Given the description of an element on the screen output the (x, y) to click on. 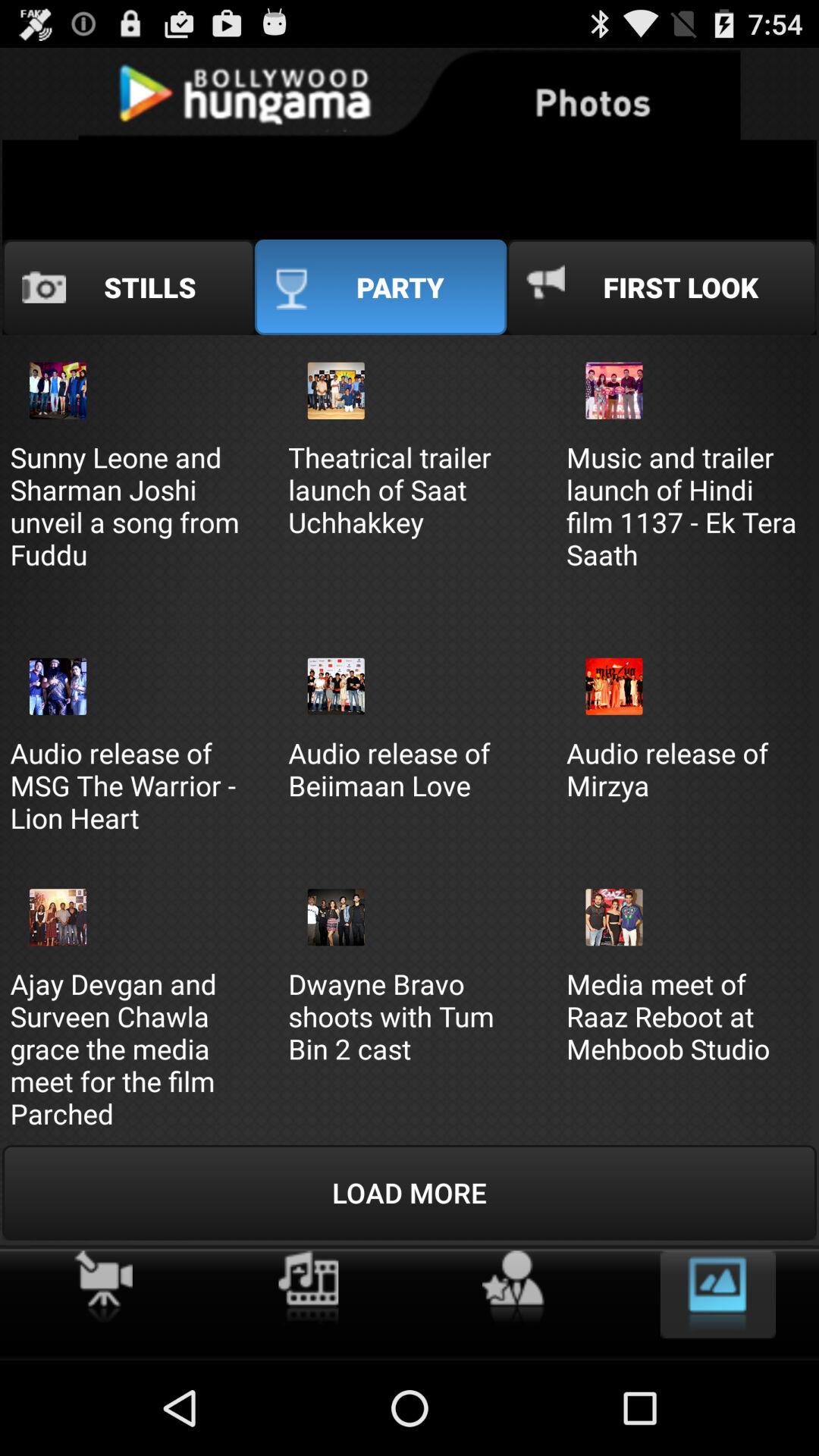
go to gallery (717, 1294)
